Given the description of an element on the screen output the (x, y) to click on. 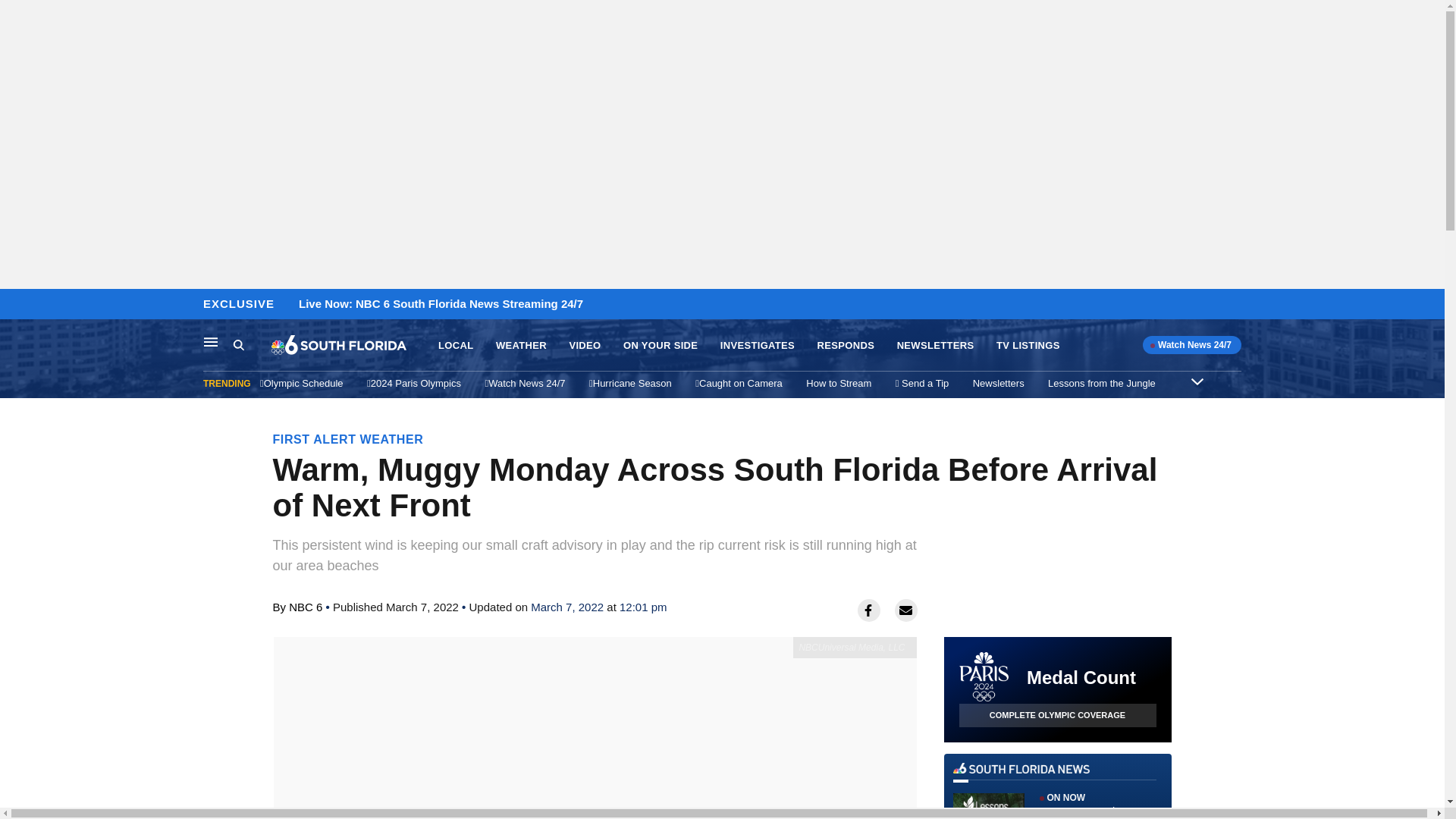
LOCAL (455, 345)
Lessons from the Jungle (1102, 383)
Newsletters (998, 383)
Main Navigation (210, 341)
Search (252, 345)
FIRST ALERT WEATHER (348, 439)
COMPLETE OLYMPIC COVERAGE (1057, 715)
RESPONDS (845, 345)
Search (238, 344)
How to Stream (838, 383)
WEATHER (521, 345)
Skip to content (16, 304)
Expand (1197, 381)
TV LISTINGS (1027, 345)
NEWSLETTERS (935, 345)
